Given the description of an element on the screen output the (x, y) to click on. 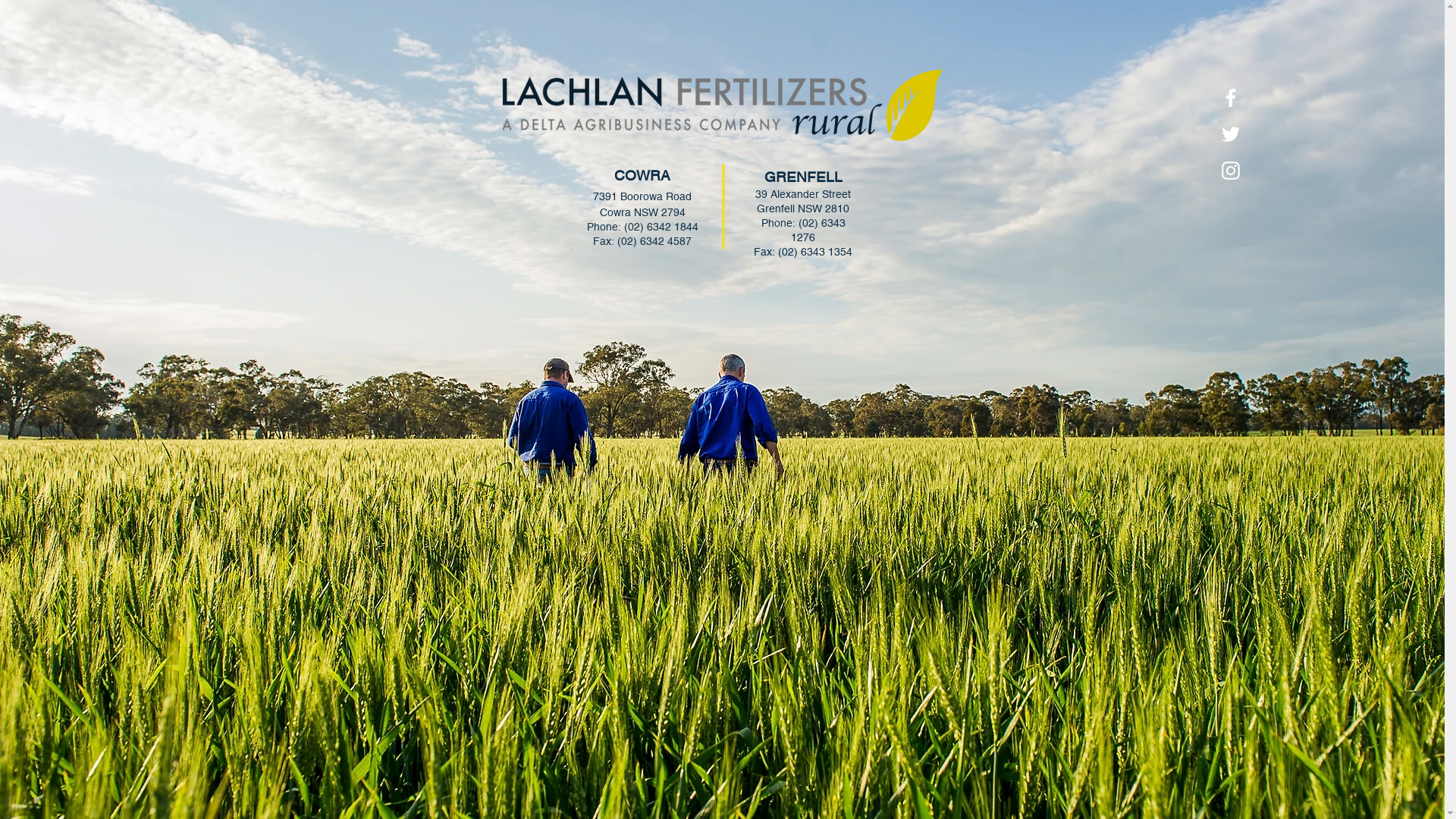
(02) 6342 1844 Element type: text (660, 226)
(02) 6343 1276 Element type: text (817, 229)
